Given the description of an element on the screen output the (x, y) to click on. 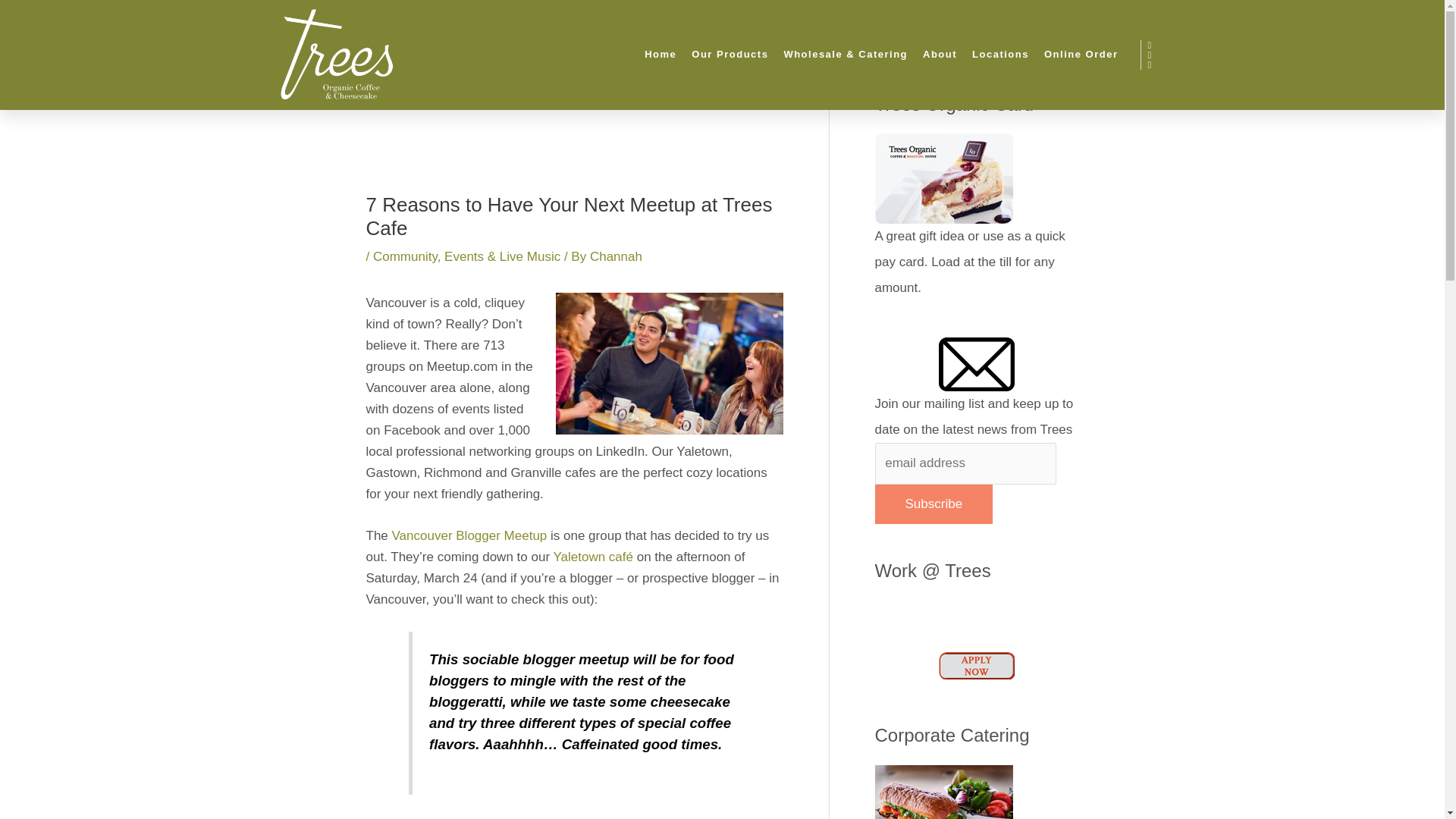
View all posts by Channah (615, 256)
Online Order (1080, 54)
Join our mailing list (976, 363)
Subscribe (933, 504)
Our Products (729, 54)
